Given the description of an element on the screen output the (x, y) to click on. 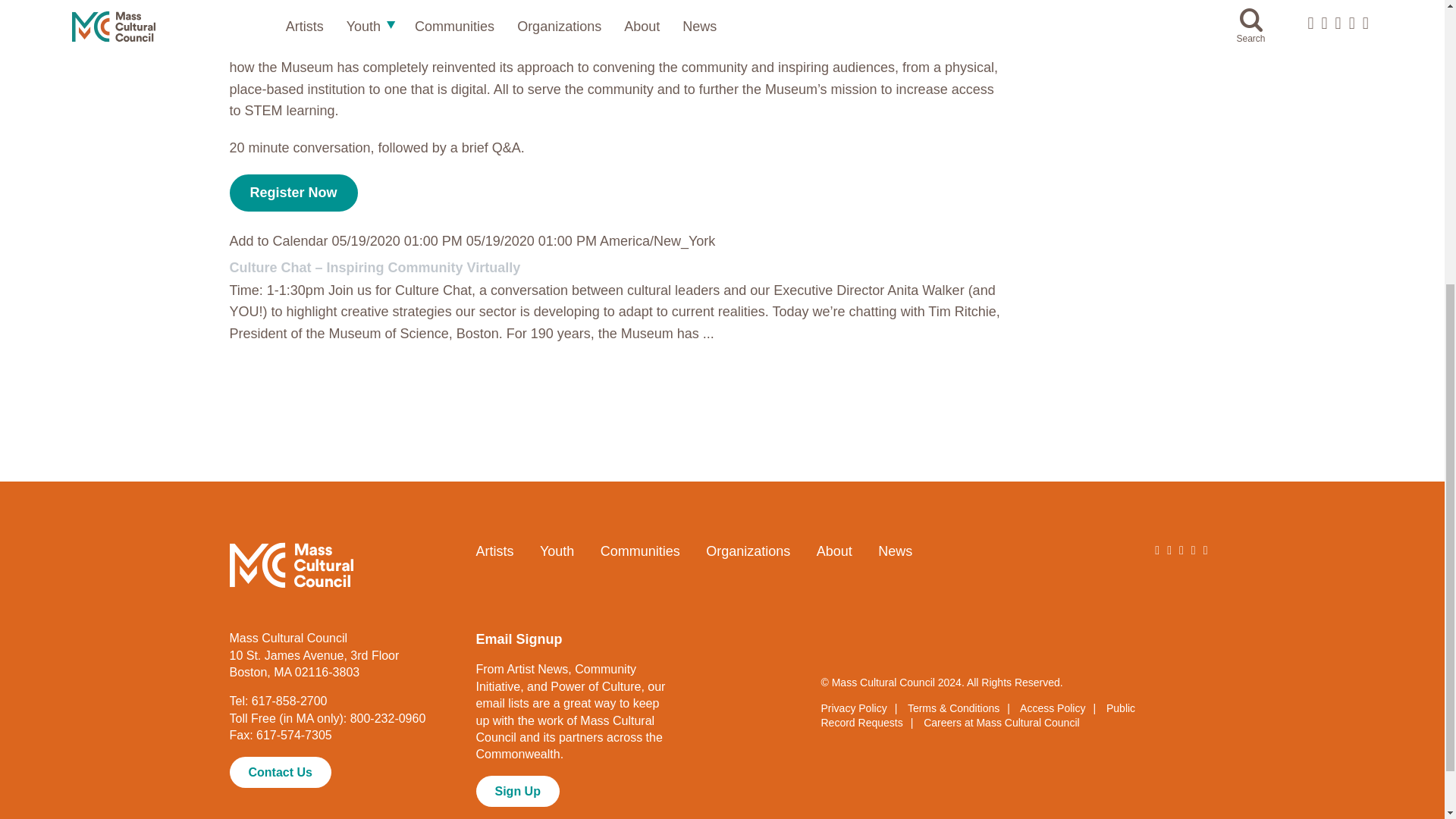
News (894, 550)
Add to Calendar (617, 287)
Sign Up (517, 791)
Access Policy (1052, 707)
Artists (494, 550)
About (833, 550)
Youth (556, 550)
Privacy Policy (853, 707)
Register Now (292, 192)
Communities (639, 550)
